Given the description of an element on the screen output the (x, y) to click on. 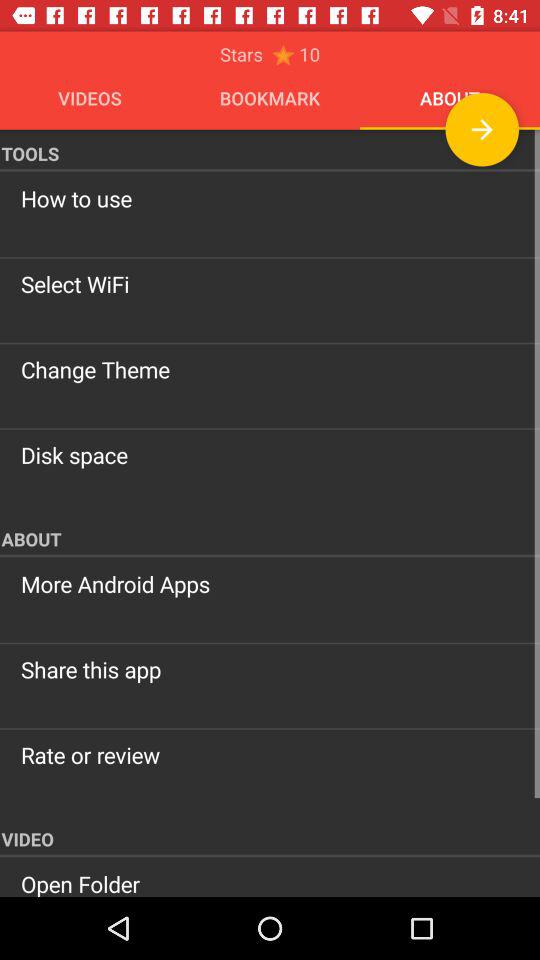
open the item below the share this app item (270, 755)
